Given the description of an element on the screen output the (x, y) to click on. 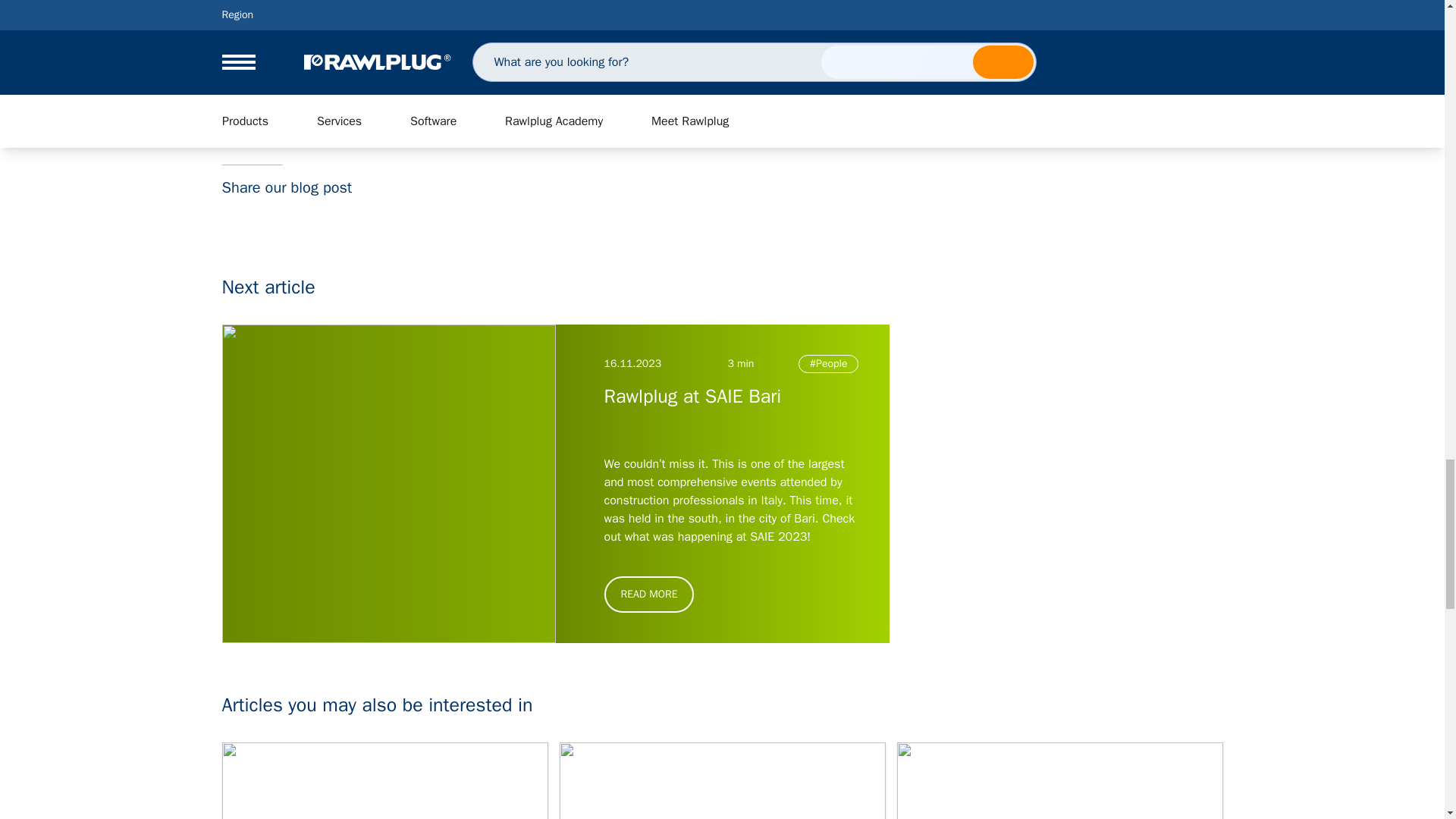
facebook (266, 216)
16-11-2023 (632, 363)
linkedin (236, 216)
twitter (297, 216)
